Given the description of an element on the screen output the (x, y) to click on. 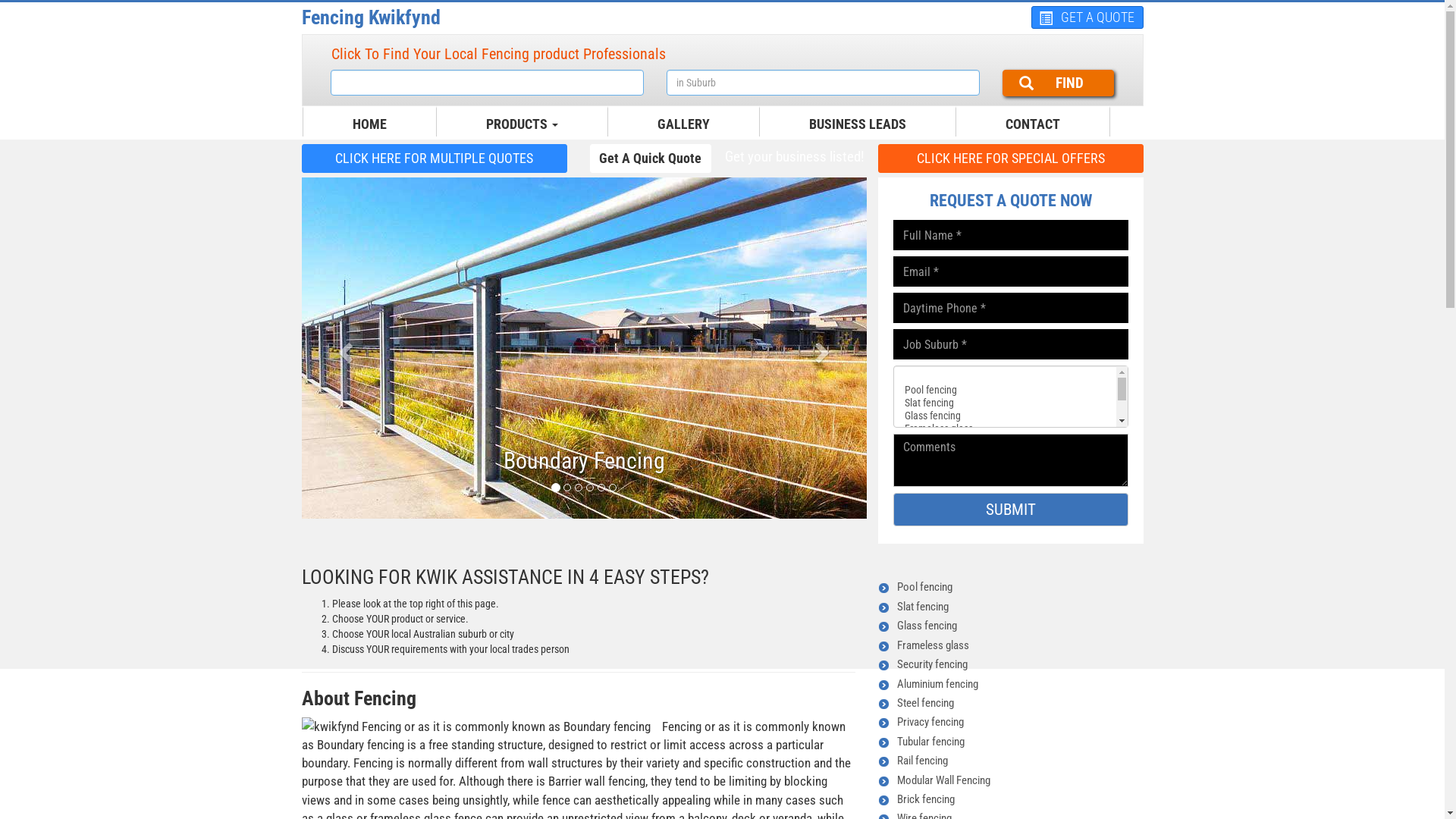
Aluminium fencing Element type: text (936, 683)
Previous Element type: text (343, 347)
CONTACT Element type: text (1031, 124)
Next Element type: text (823, 347)
Frameless glass Element type: text (932, 645)
GET A QUOTE Element type: text (1087, 17)
Tubular fencing Element type: text (929, 741)
Brick fencing Element type: text (924, 799)
Fencing Kwikfynd Element type: text (370, 17)
HOME Element type: text (369, 124)
PRODUCTS Element type: text (521, 124)
Modular Wall Fencing Element type: text (942, 780)
Privacy fencing Element type: text (929, 721)
Security fencing Element type: text (931, 664)
SUBMIT Element type: text (1010, 509)
Get A Quick Quote Element type: text (650, 158)
CLICK HERE FOR SPECIAL OFFERS Element type: text (1010, 158)
Pool fencing Element type: text (923, 586)
FIND Element type: text (1057, 82)
BUSINESS LEADS Element type: text (857, 124)
GALLERY Element type: text (683, 124)
CLICK HERE FOR SPECIAL OFFERS Element type: text (1010, 157)
Glass fencing Element type: text (926, 625)
Get A Quick Quote Element type: text (650, 157)
Rail fencing Element type: text (921, 760)
Slat fencing Element type: text (921, 606)
Get your business listed! Element type: text (793, 157)
CLICK HERE FOR MULTIPLE QUOTES Element type: text (434, 158)
CLICK HERE FOR MULTIPLE QUOTES Element type: text (434, 157)
Steel fencing Element type: text (924, 702)
